Given the description of an element on the screen output the (x, y) to click on. 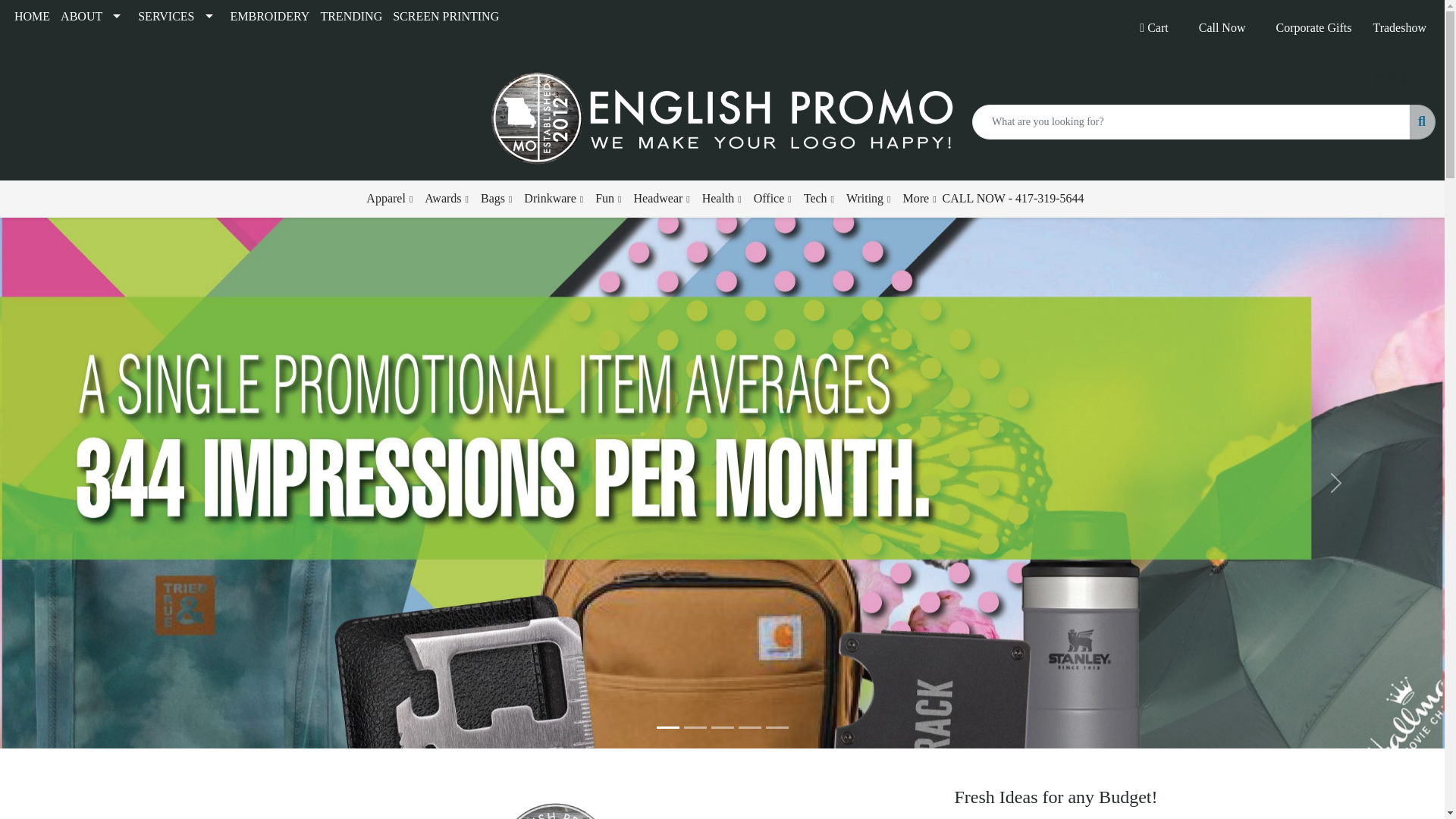
SCREEN PRINTING (445, 16)
Tradeshow (1399, 28)
EMBROIDERY (270, 16)
Corporate Gifts (1312, 28)
ABOUT (93, 16)
Cart (1153, 28)
Call Now (1221, 28)
TRENDING (350, 16)
HOME (31, 16)
SERVICES (178, 16)
